Given the description of an element on the screen output the (x, y) to click on. 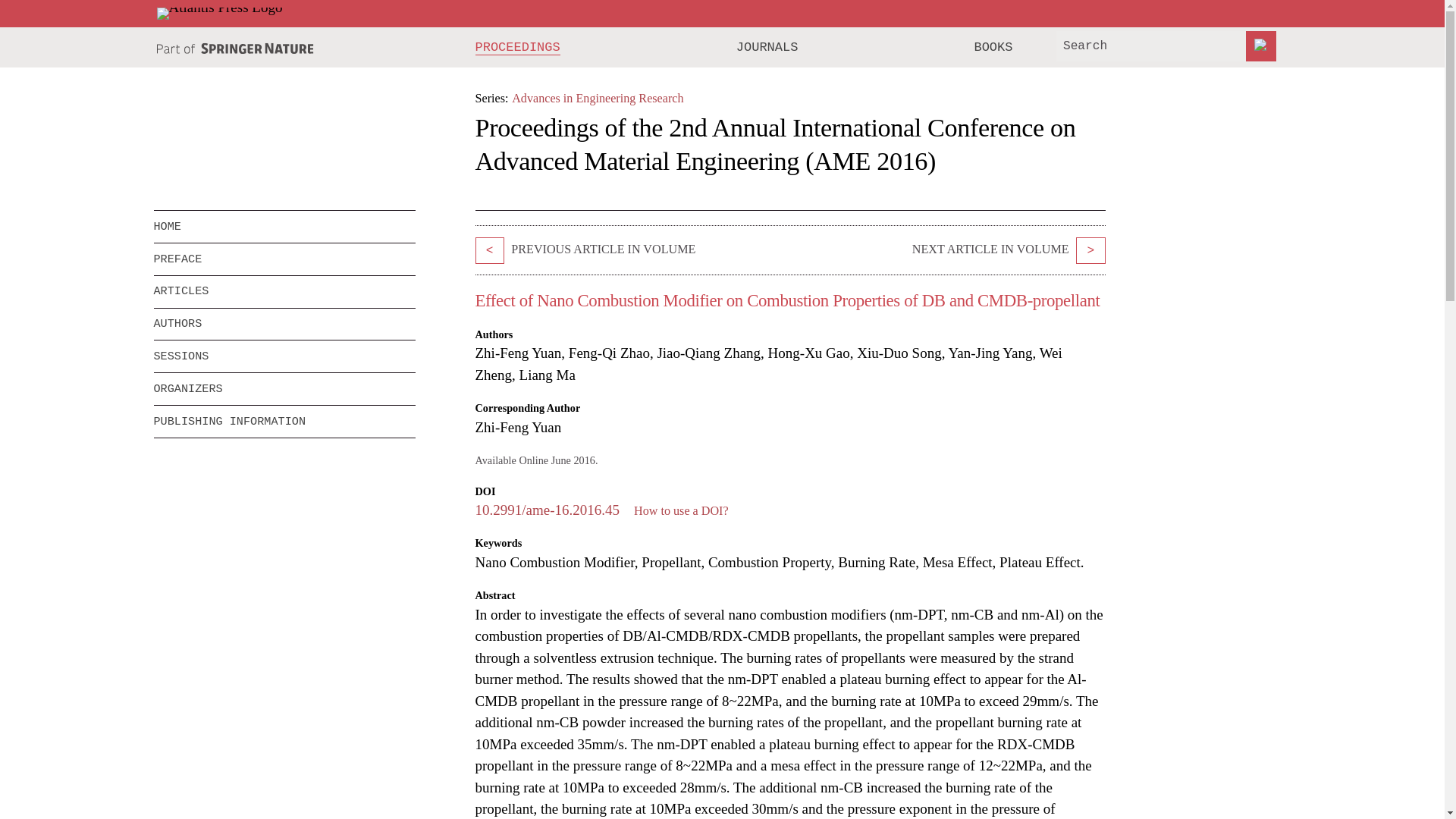
SESSIONS (273, 356)
HOME (283, 226)
PREFACE (283, 259)
AUTHORS (283, 324)
PROCEEDINGS (518, 47)
Atlantis Press is Part of Springer Nature (234, 48)
How to use a DOI? (681, 510)
PUBLISHING INFORMATION (283, 421)
